Given the description of an element on the screen output the (x, y) to click on. 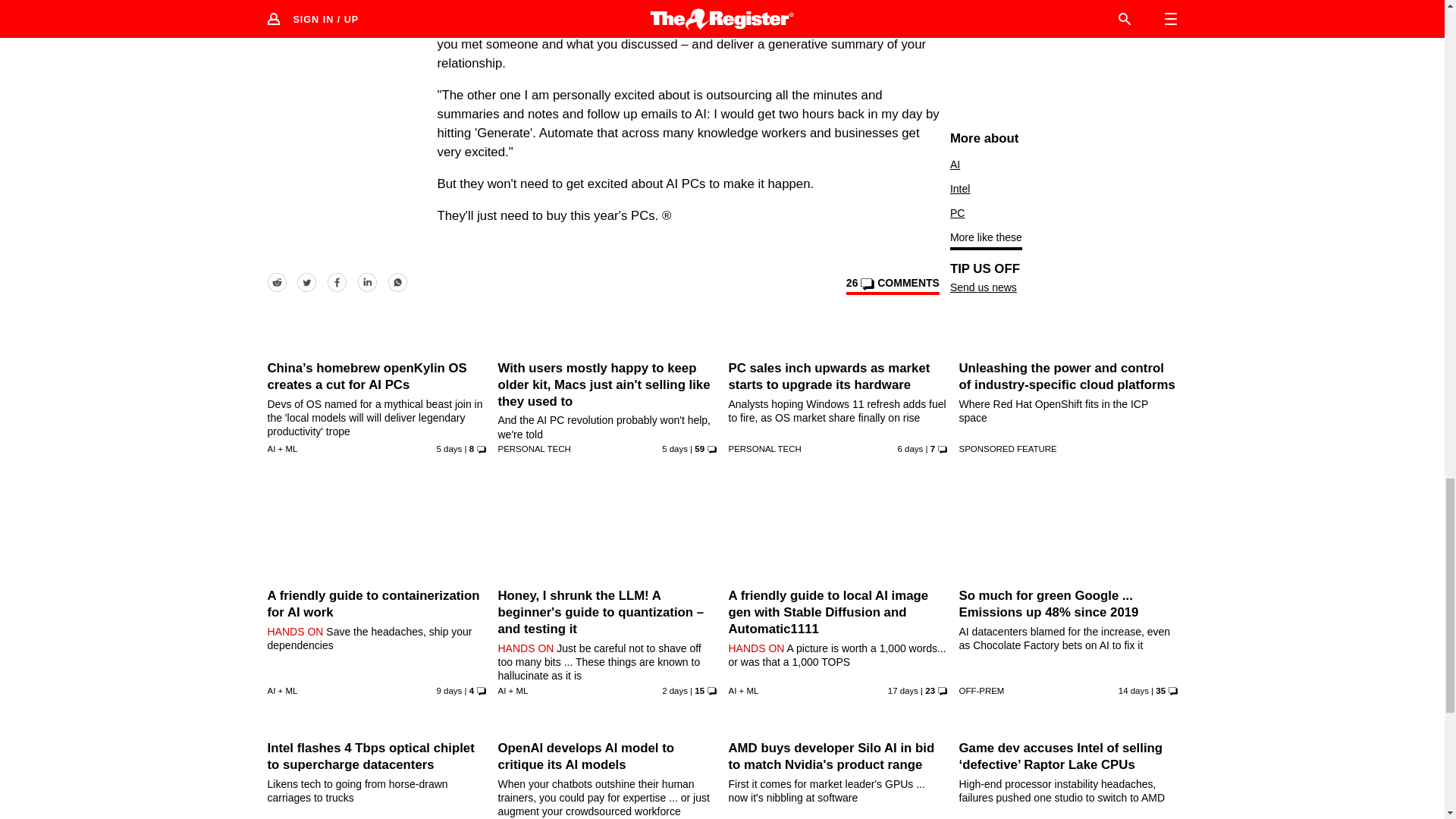
10 Jul 2024 17:32 (910, 448)
29 Jun 2024 15:40 (903, 690)
View comments on this article (892, 285)
14 Jul 2024 11:32 (674, 690)
11 Jul 2024 18:4 (674, 448)
2 Jul 2024 23:30 (1133, 690)
7 Jul 2024 15:37 (449, 690)
11 Jul 2024 2:29 (449, 448)
